Given the description of an element on the screen output the (x, y) to click on. 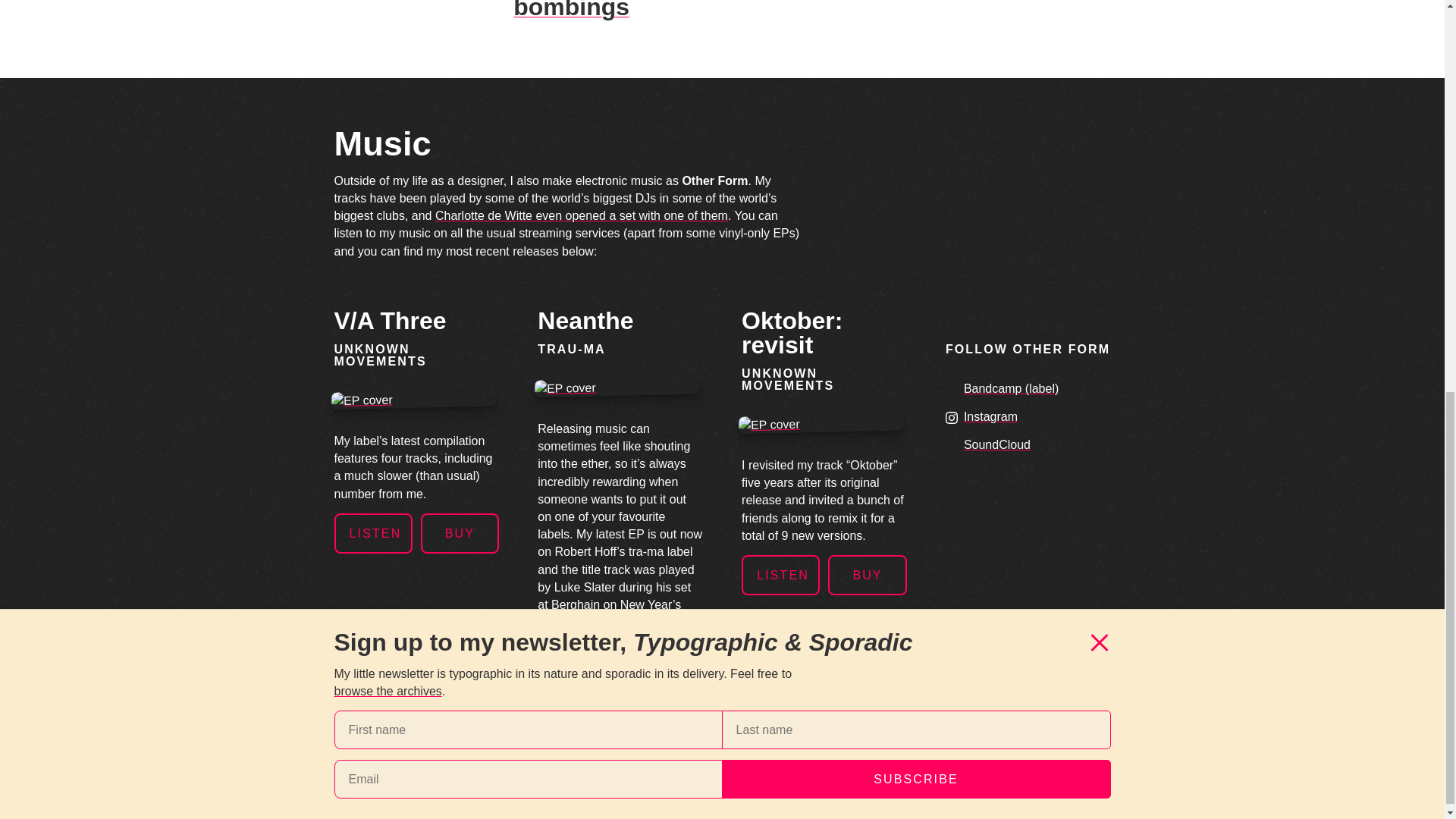
BUY (459, 533)
LISTEN (780, 575)
BUY (866, 575)
BUY (663, 661)
Instagram (980, 416)
Subscribe (916, 21)
After the London bombings (611, 10)
LISTEN (576, 661)
LISTEN (372, 533)
Charlotte de Witte even opened a set with one of them (581, 215)
